Given the description of an element on the screen output the (x, y) to click on. 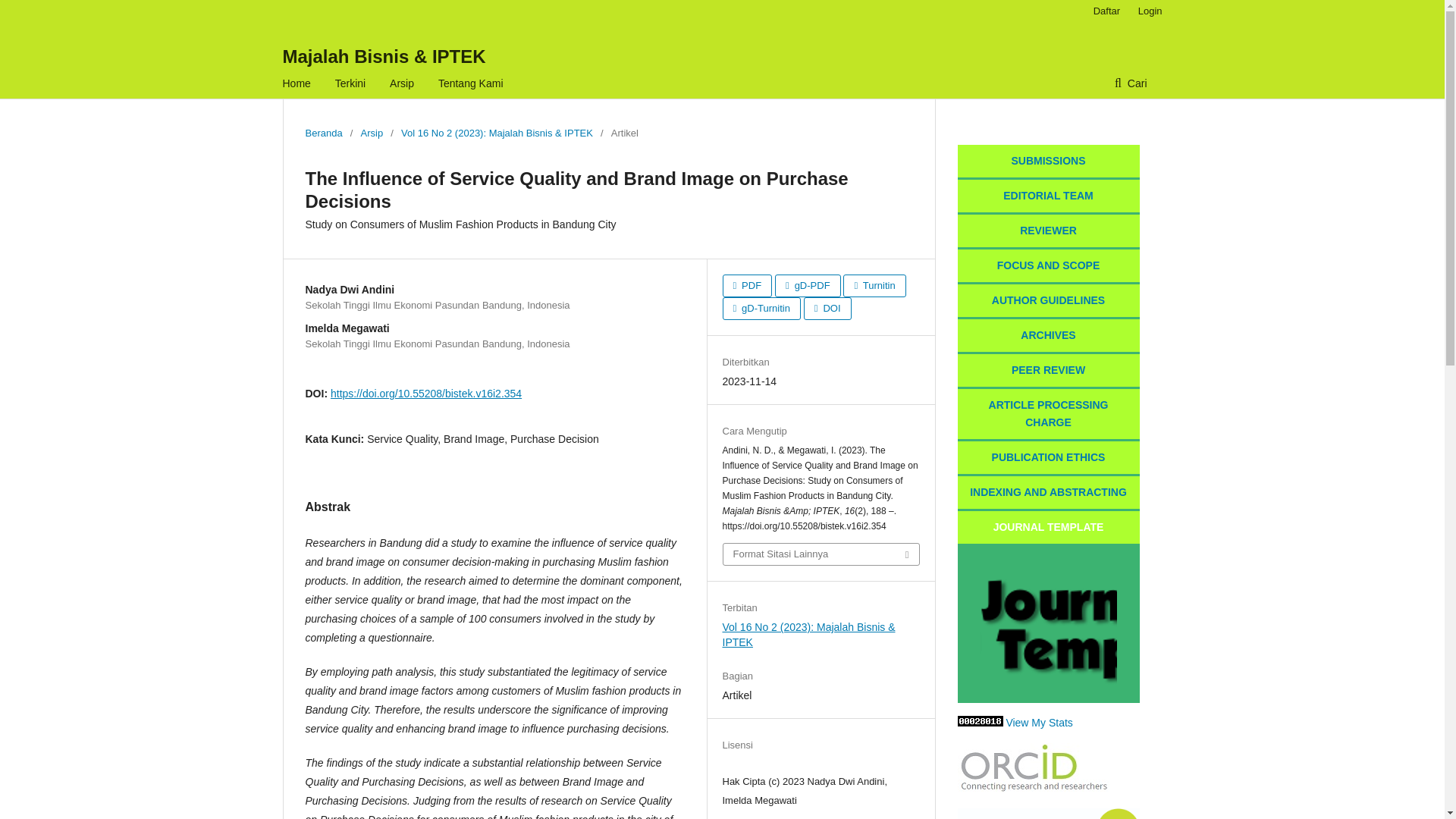
Turnitin (874, 285)
Format Sitasi Lainnya (820, 554)
Cari (1130, 82)
PDF (746, 285)
Login (1146, 11)
gD-Turnitin (760, 308)
Tentang Kami (470, 82)
Terkini (349, 82)
Arsip (372, 133)
Beranda (323, 133)
gD-PDF (807, 285)
Web Analytics (979, 722)
DOI (827, 308)
Home (296, 82)
Daftar (1106, 11)
